Given the description of an element on the screen output the (x, y) to click on. 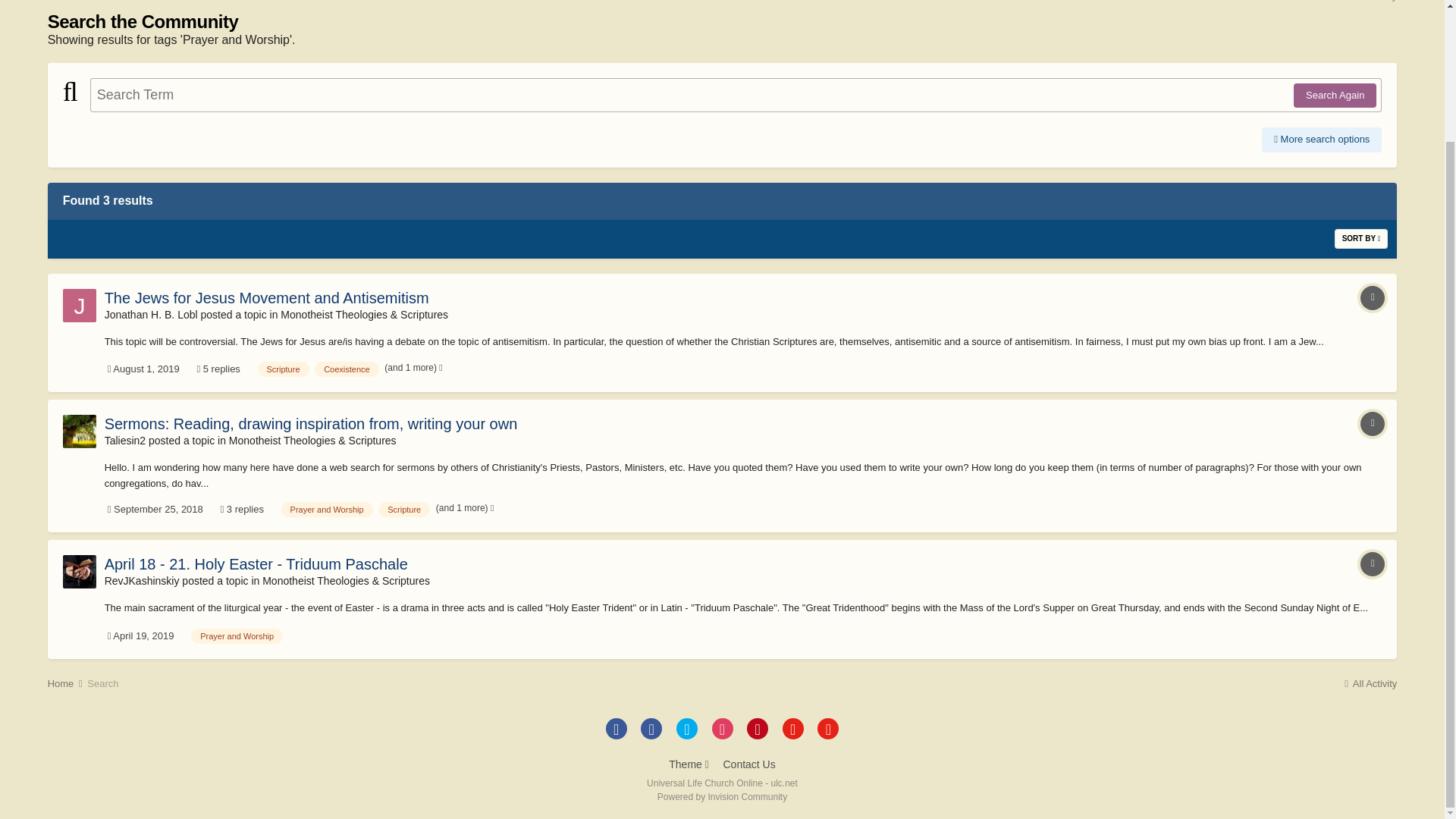
Topic (1371, 423)
Home (66, 0)
More search options (1321, 139)
Find other content tagged with 'Coexistence' (346, 368)
Home (66, 0)
Go to Jonathan H. B. Lobl's profile (79, 305)
Go to Taliesin2's profile (79, 430)
Go to Jonathan H. B. Lobl's profile (151, 314)
Search Again (1334, 95)
Find other content tagged with 'Scripture' (403, 509)
All Activity (1369, 0)
Find other content tagged with 'Scripture' (282, 368)
Search (102, 0)
Go to Taliesin2's profile (124, 440)
Topic (1371, 297)
